Given the description of an element on the screen output the (x, y) to click on. 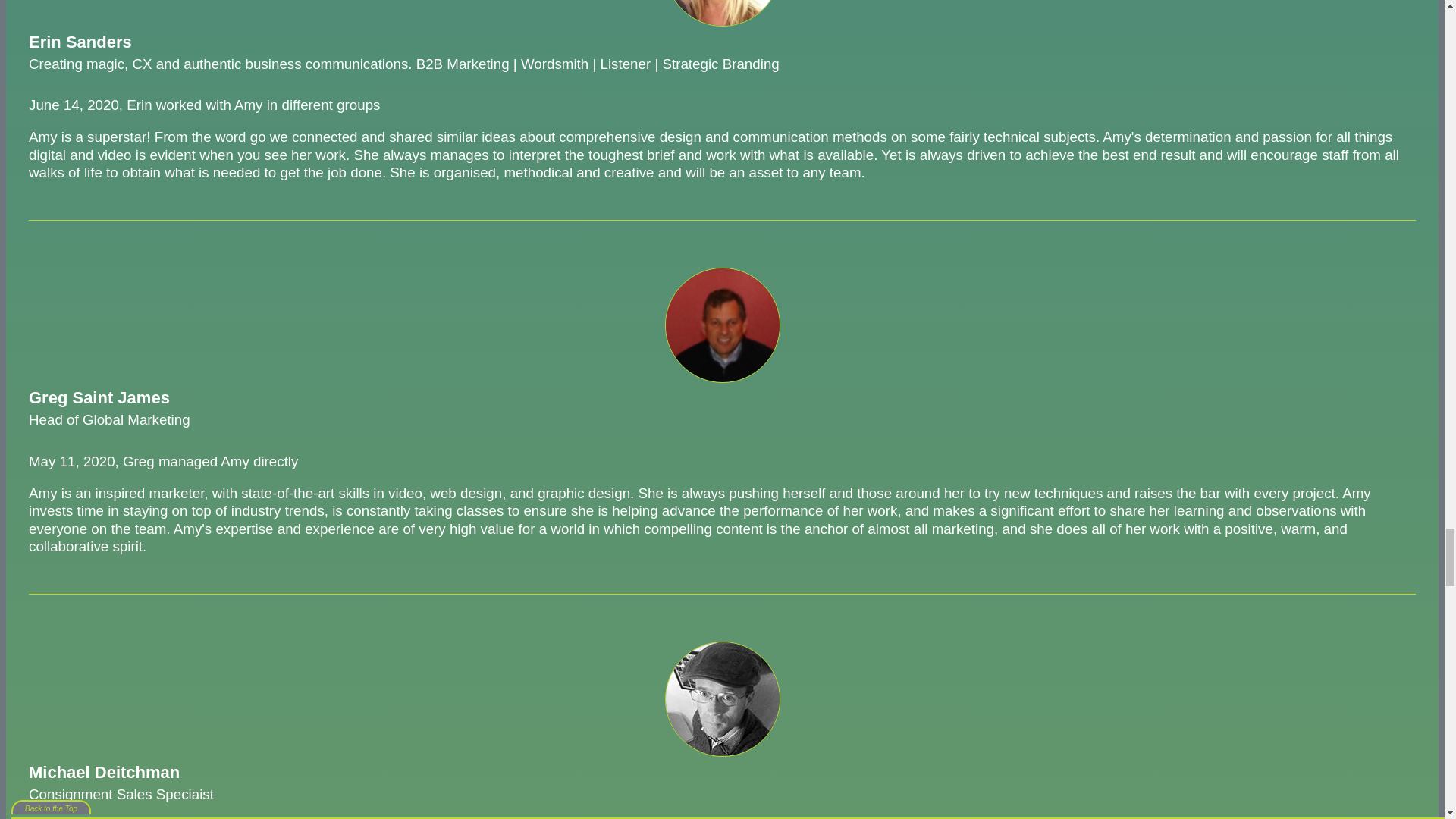
Greg Saint James (720, 325)
Erin Sanders (720, 13)
Michael Deitchman (720, 698)
